Given the description of an element on the screen output the (x, y) to click on. 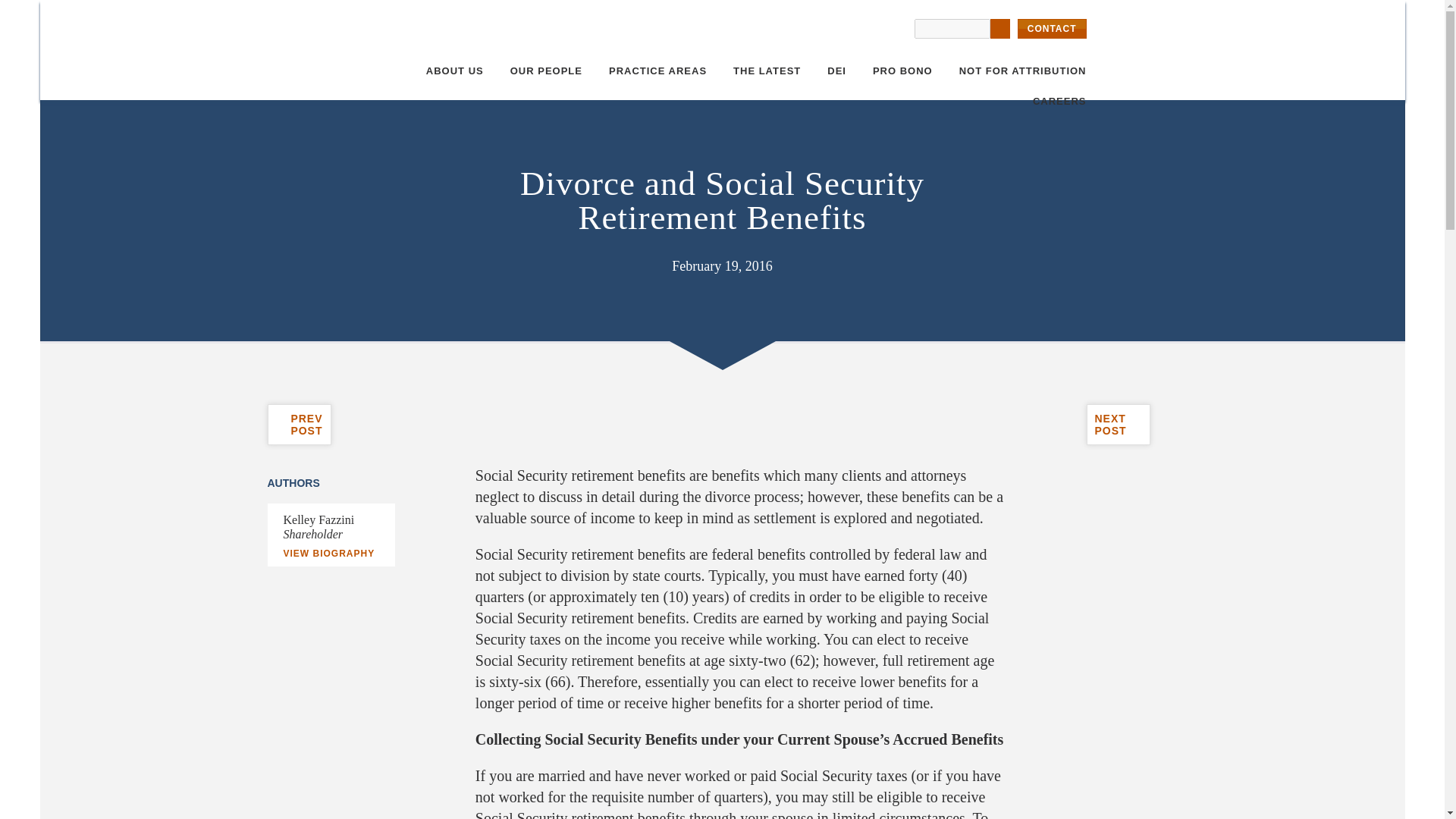
s (1000, 28)
CONTACT (1052, 28)
OUR PEOPLE (546, 70)
DEI (836, 70)
THE LATEST (766, 70)
CAREERS (1118, 424)
PRACTICE AREAS (1059, 101)
LinkedIn (657, 70)
ABOUT US (516, 458)
